Given the description of an element on the screen output the (x, y) to click on. 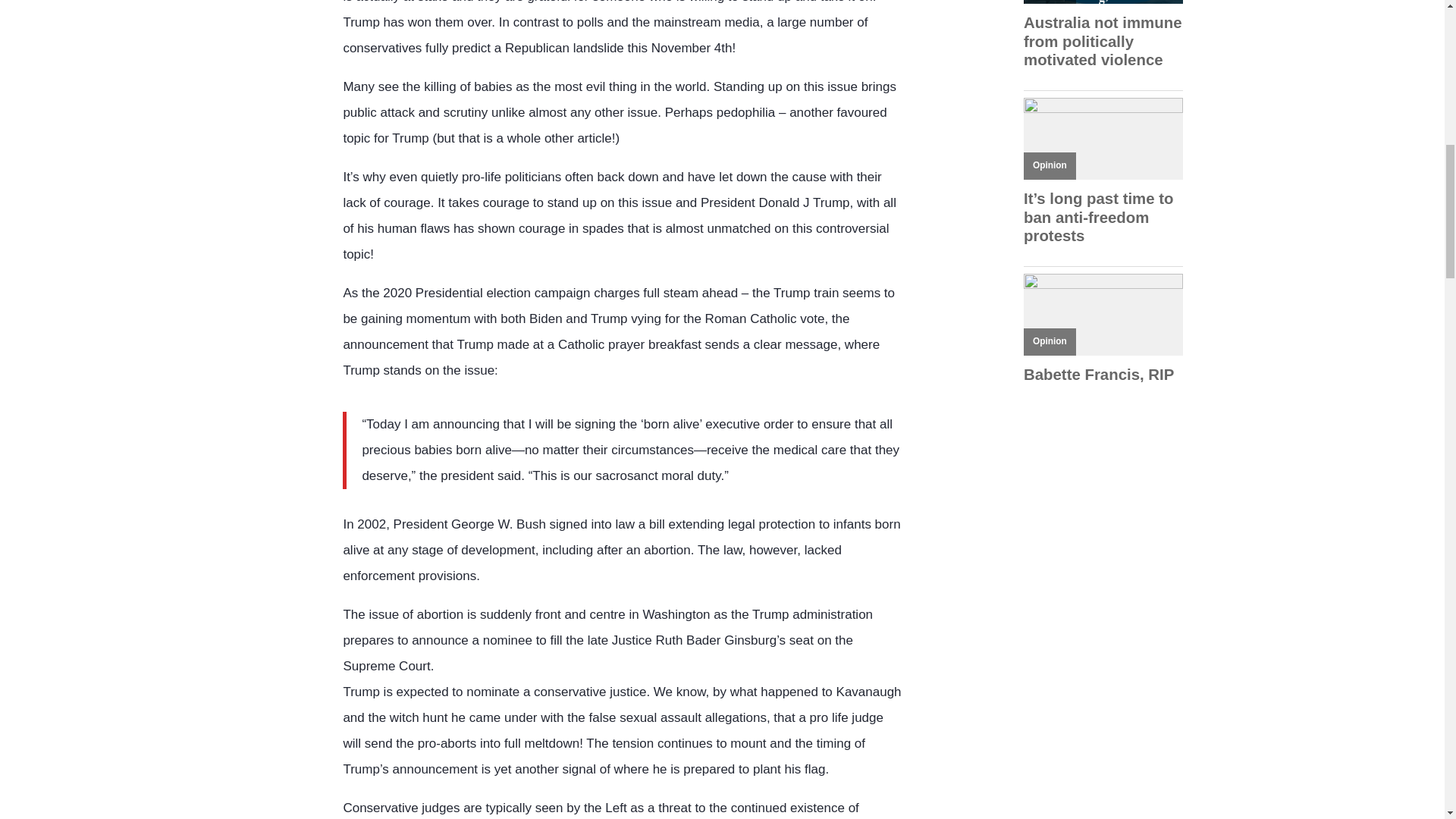
Opinion (1049, 340)
Opinion (1049, 164)
Babette Francis, RIP (1102, 374)
Australia not immune from politically motivated violence (1102, 40)
